Given the description of an element on the screen output the (x, y) to click on. 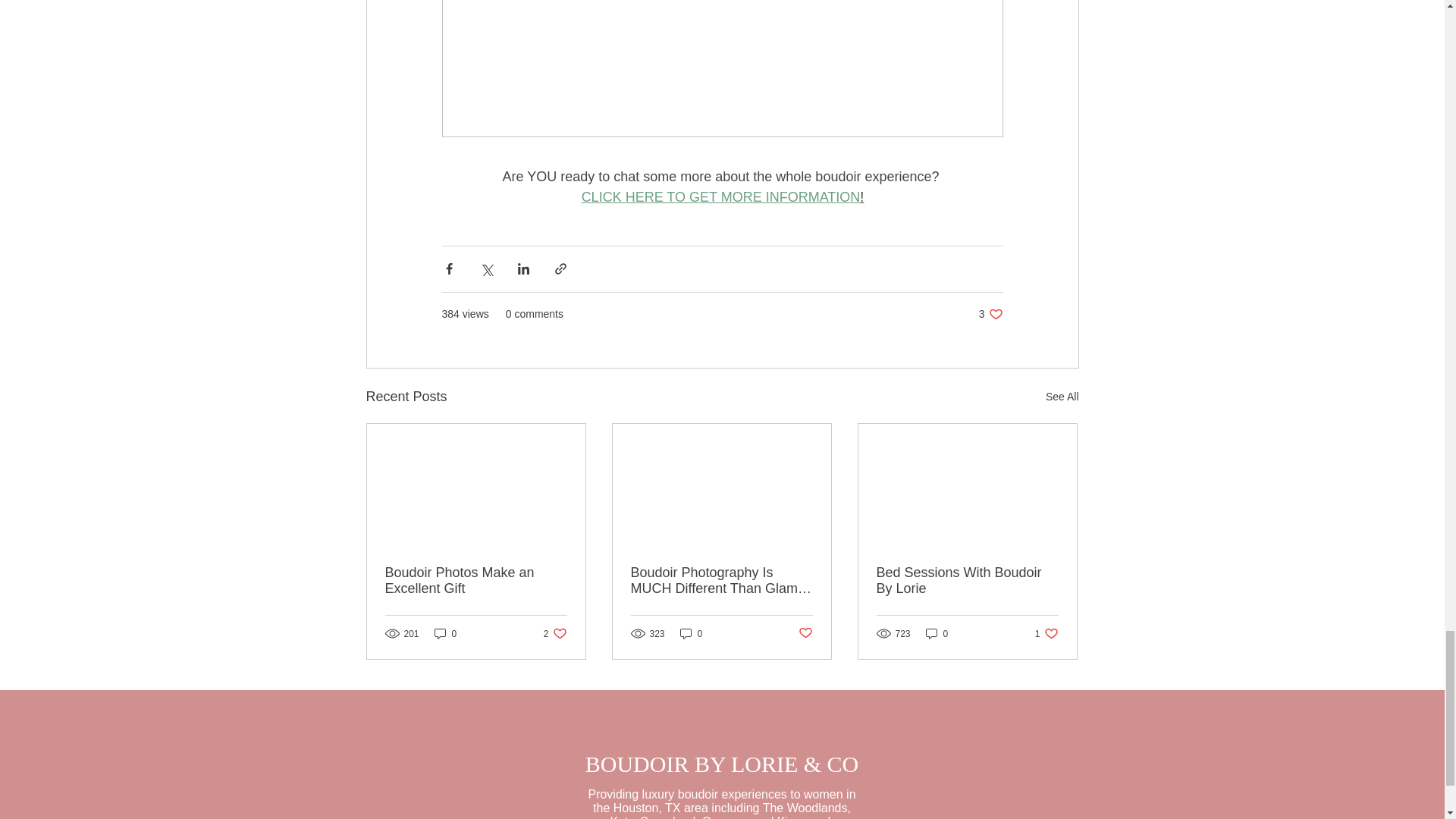
0 (691, 633)
CLICK HERE TO GET MORE INFORMATION (720, 196)
0 (937, 633)
Boudoir Photos Make an Excellent Gift (476, 581)
Bed Sessions With Boudoir By Lorie (967, 581)
Boudoir Photography Is MUCH Different Than Glamor Shots (721, 581)
See All (1061, 396)
0 (555, 633)
Post not marked as liked (445, 633)
